Given the description of an element on the screen output the (x, y) to click on. 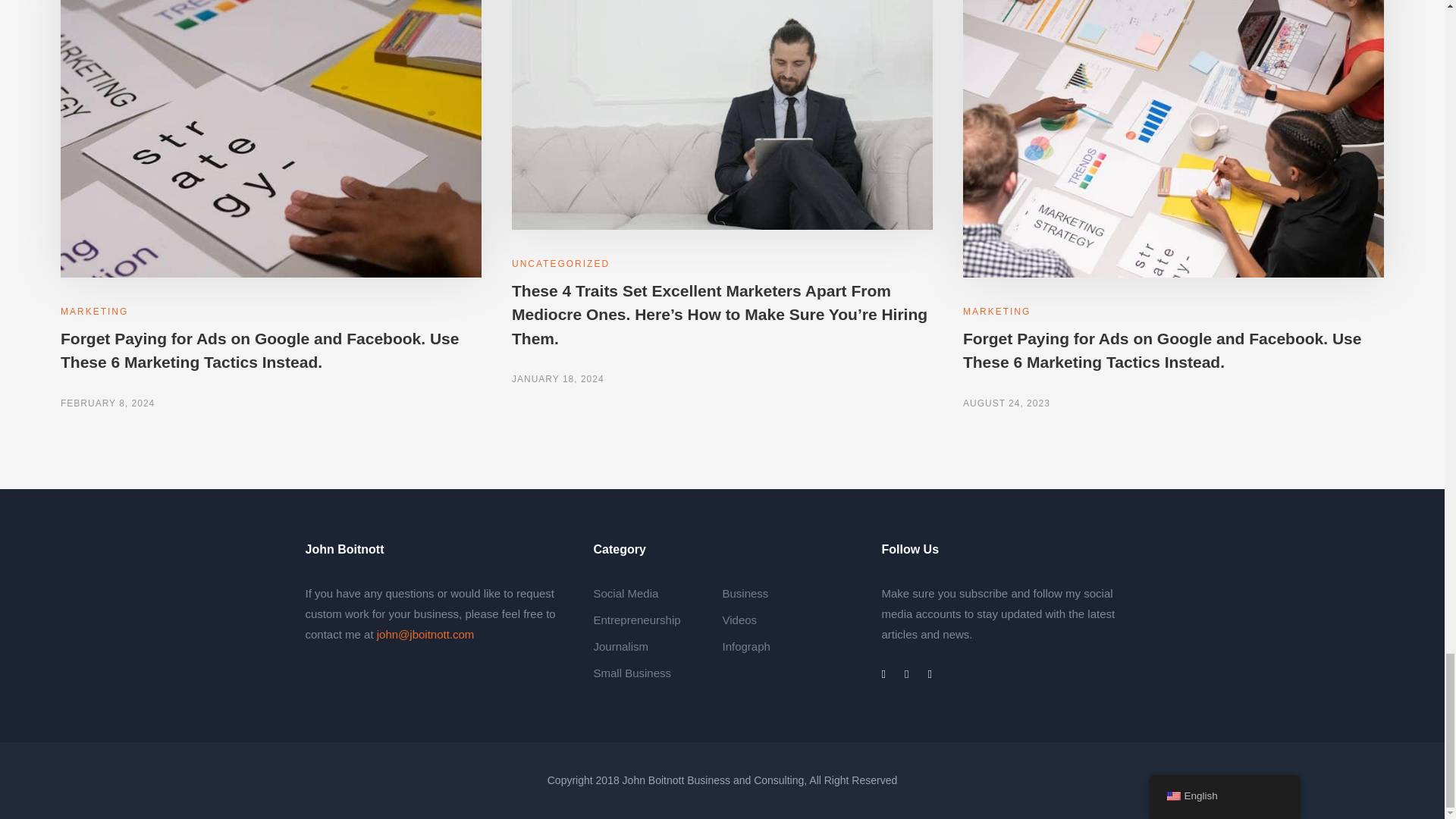
MARKETING (94, 311)
